Given the description of an element on the screen output the (x, y) to click on. 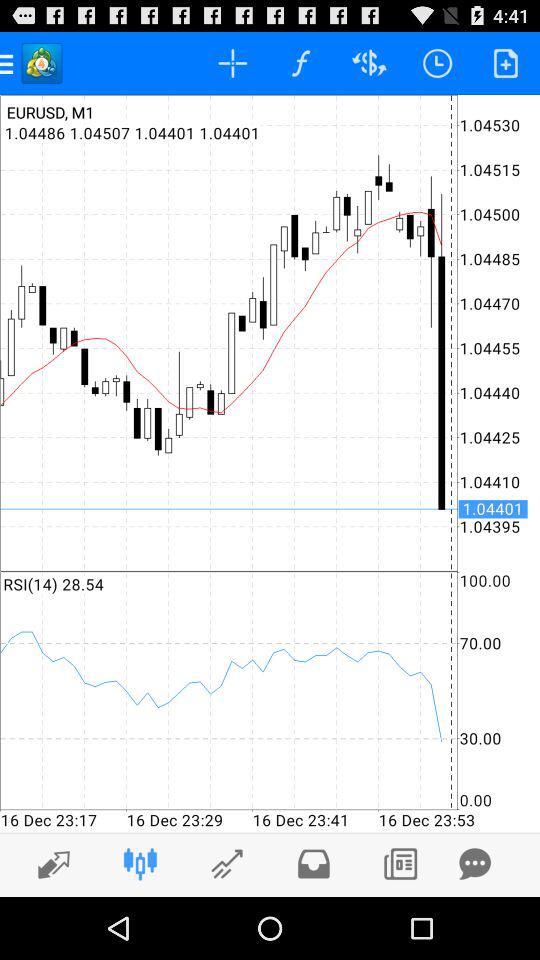
send private message (475, 864)
